Given the description of an element on the screen output the (x, y) to click on. 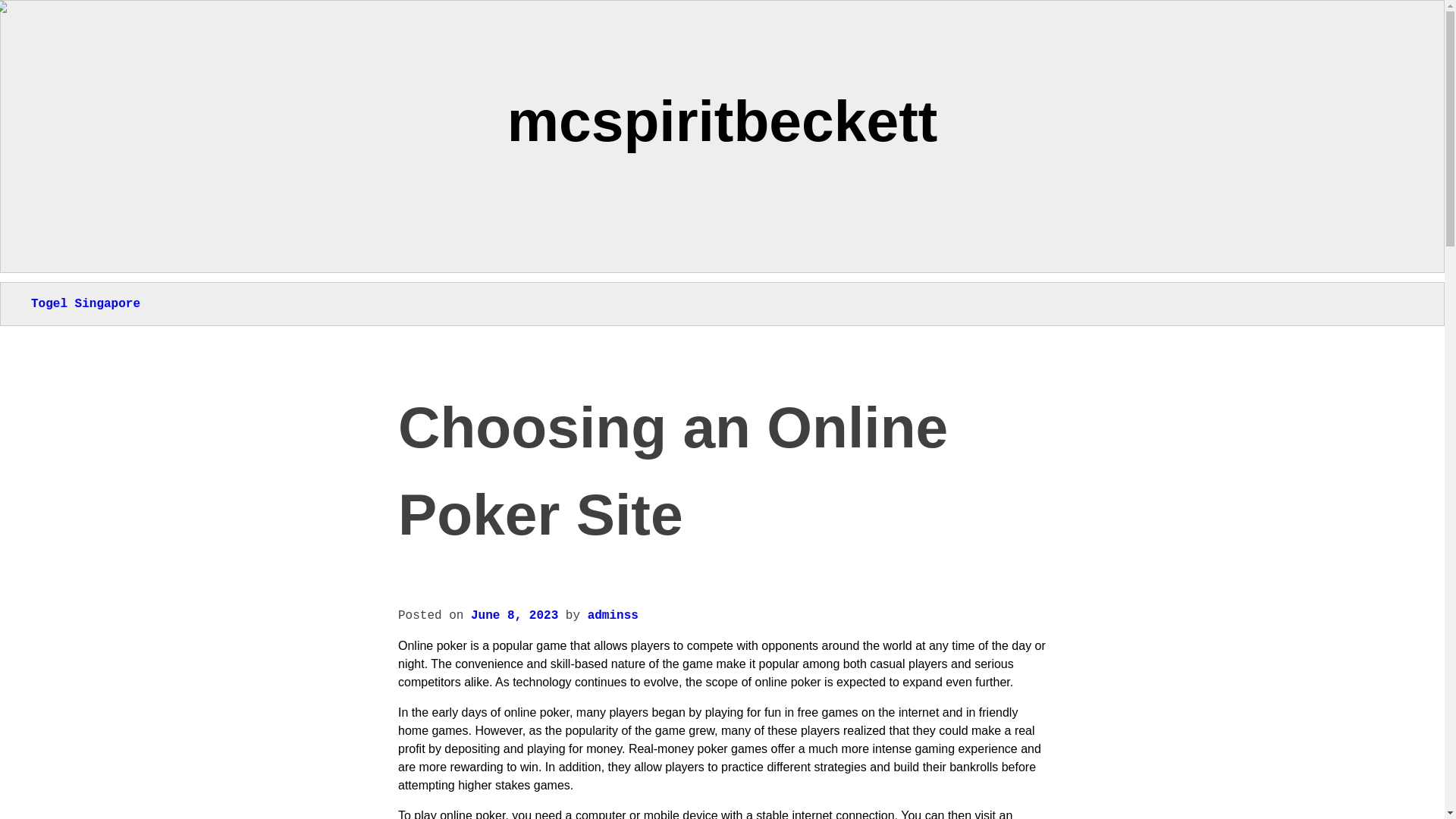
June 8, 2023 (513, 615)
adminss (613, 615)
Togel Singapore (84, 304)
mcspiritbeckett (721, 120)
